Given the description of an element on the screen output the (x, y) to click on. 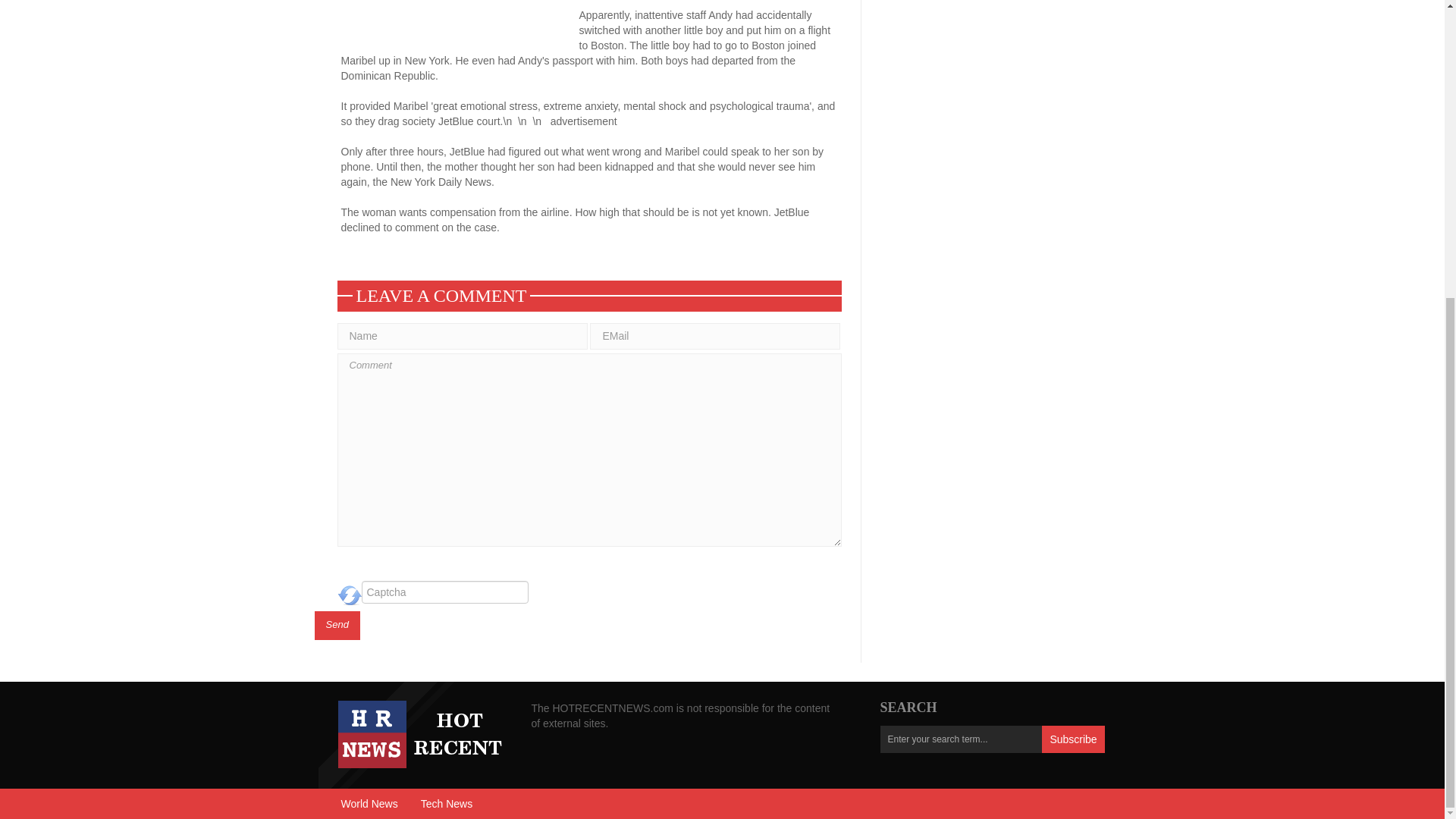
Send (336, 624)
Send (336, 624)
Enter your search term... (960, 738)
Subscribe (1072, 738)
